Given the description of an element on the screen output the (x, y) to click on. 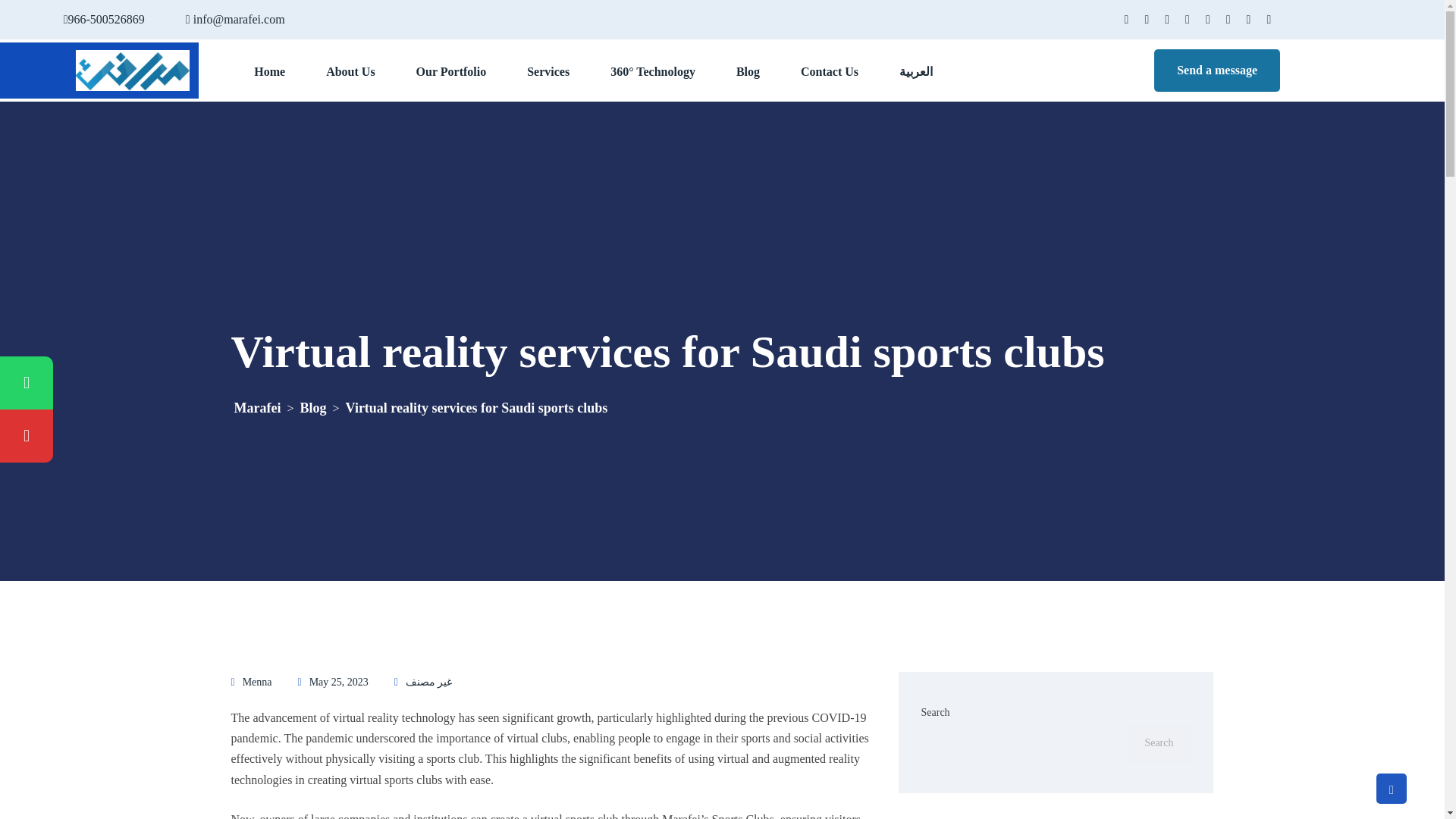
Marafei (256, 407)
Blog (747, 69)
Our Portfolio (451, 69)
Menna (257, 681)
Go to Marafei. (256, 407)
About Us (350, 69)
Home (269, 69)
May 25, 2023 (338, 681)
Send a message (1216, 70)
Go to Blog. (313, 407)
Blog (313, 407)
Contact Us (829, 69)
Services (548, 69)
966-500526869 (106, 19)
Search (1158, 742)
